Given the description of an element on the screen output the (x, y) to click on. 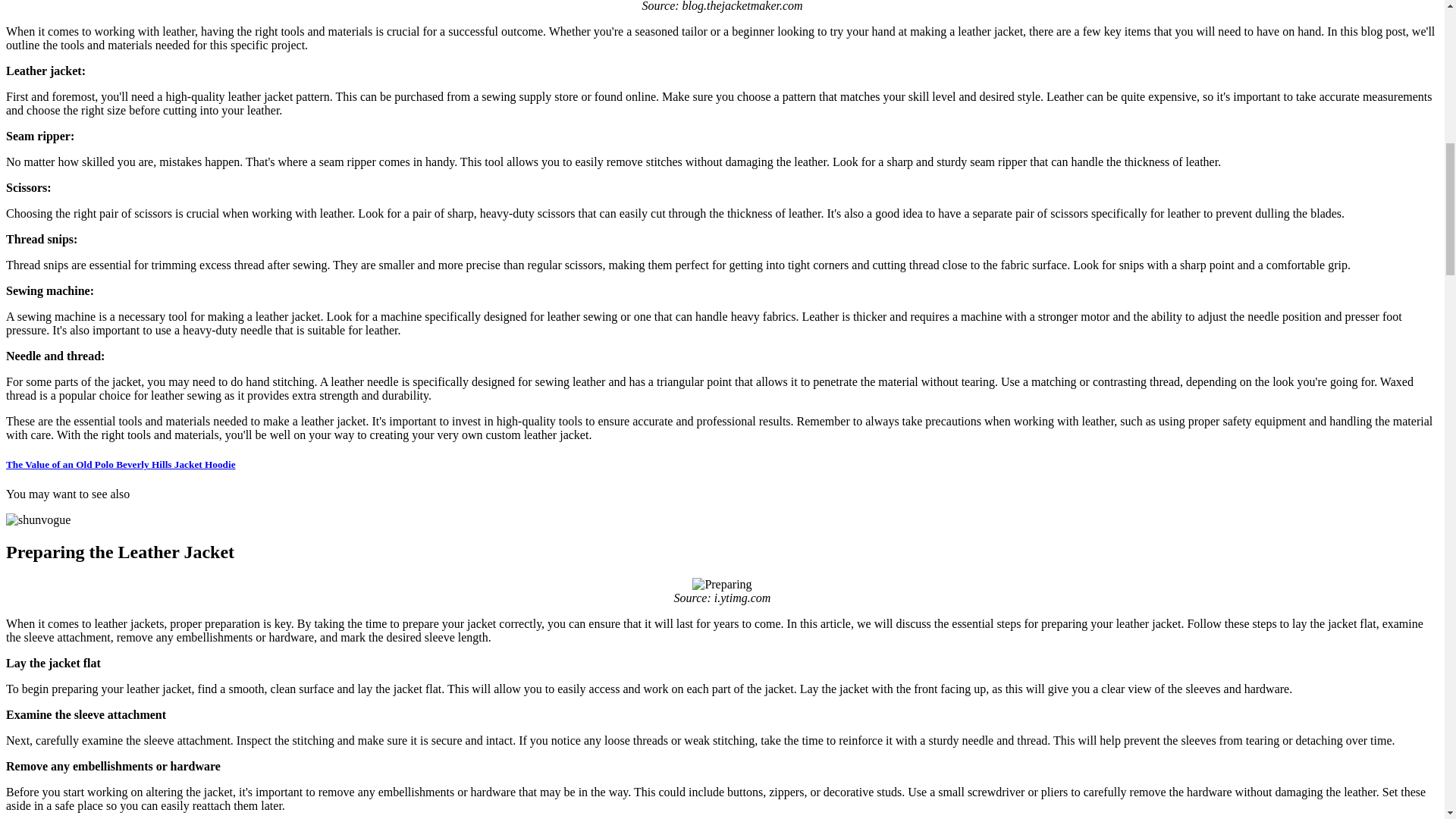
The Value of an Old Polo Beverly Hills Jacket Hoodie (120, 464)
